Given the description of an element on the screen output the (x, y) to click on. 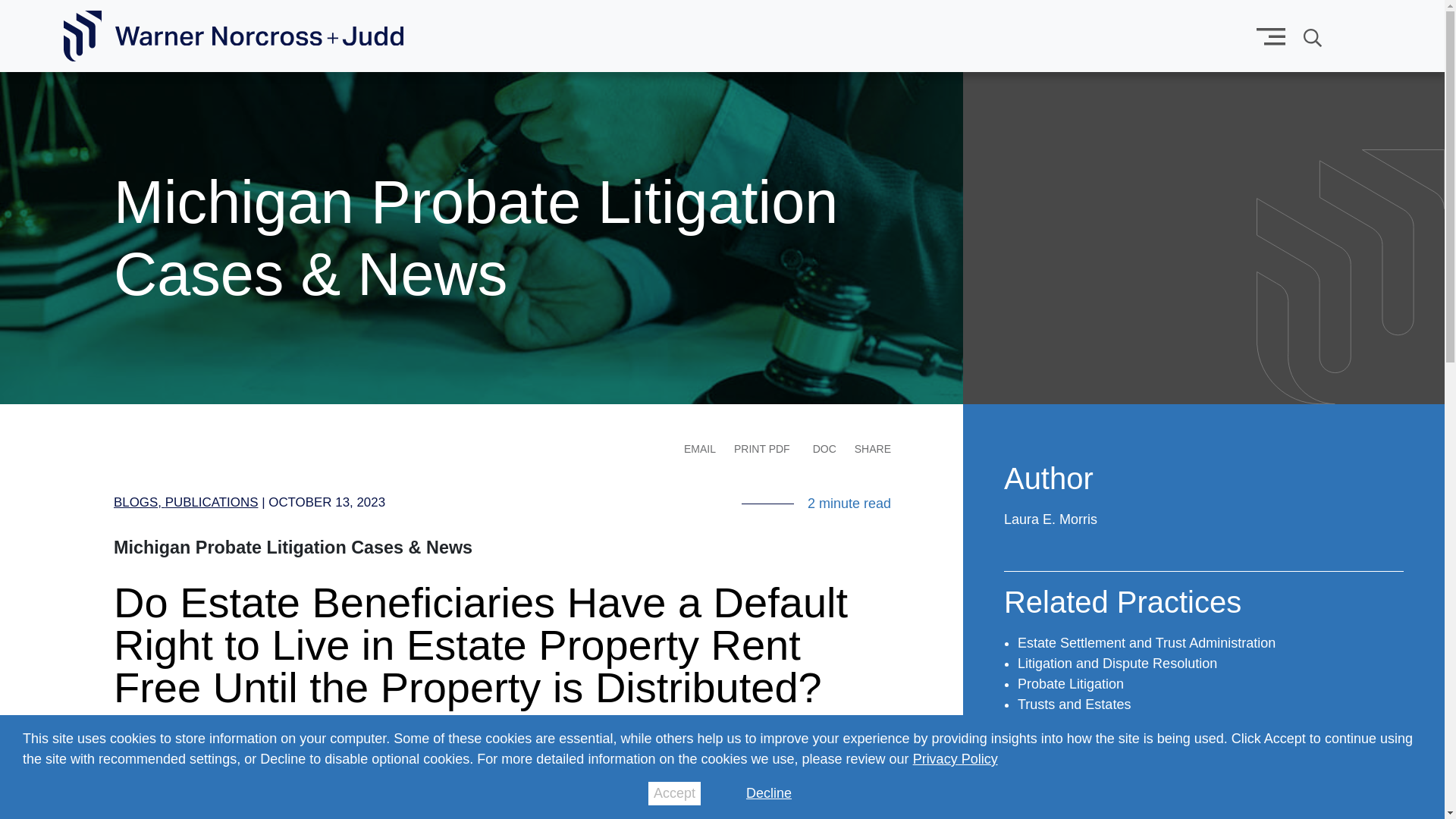
DOC (824, 448)
Probate Litigation (1070, 683)
Privacy Policy (954, 758)
Litigation and Dispute Resolution (1117, 663)
EMAIL (700, 449)
Trusts and Estates (1074, 703)
PRINT PDF (761, 448)
Related Practices (1122, 608)
SHARE (872, 449)
Decline (768, 793)
Accept (673, 793)
Estate Settlement and Trust Administration (1146, 642)
Laura E. Morris (1050, 518)
